Given the description of an element on the screen output the (x, y) to click on. 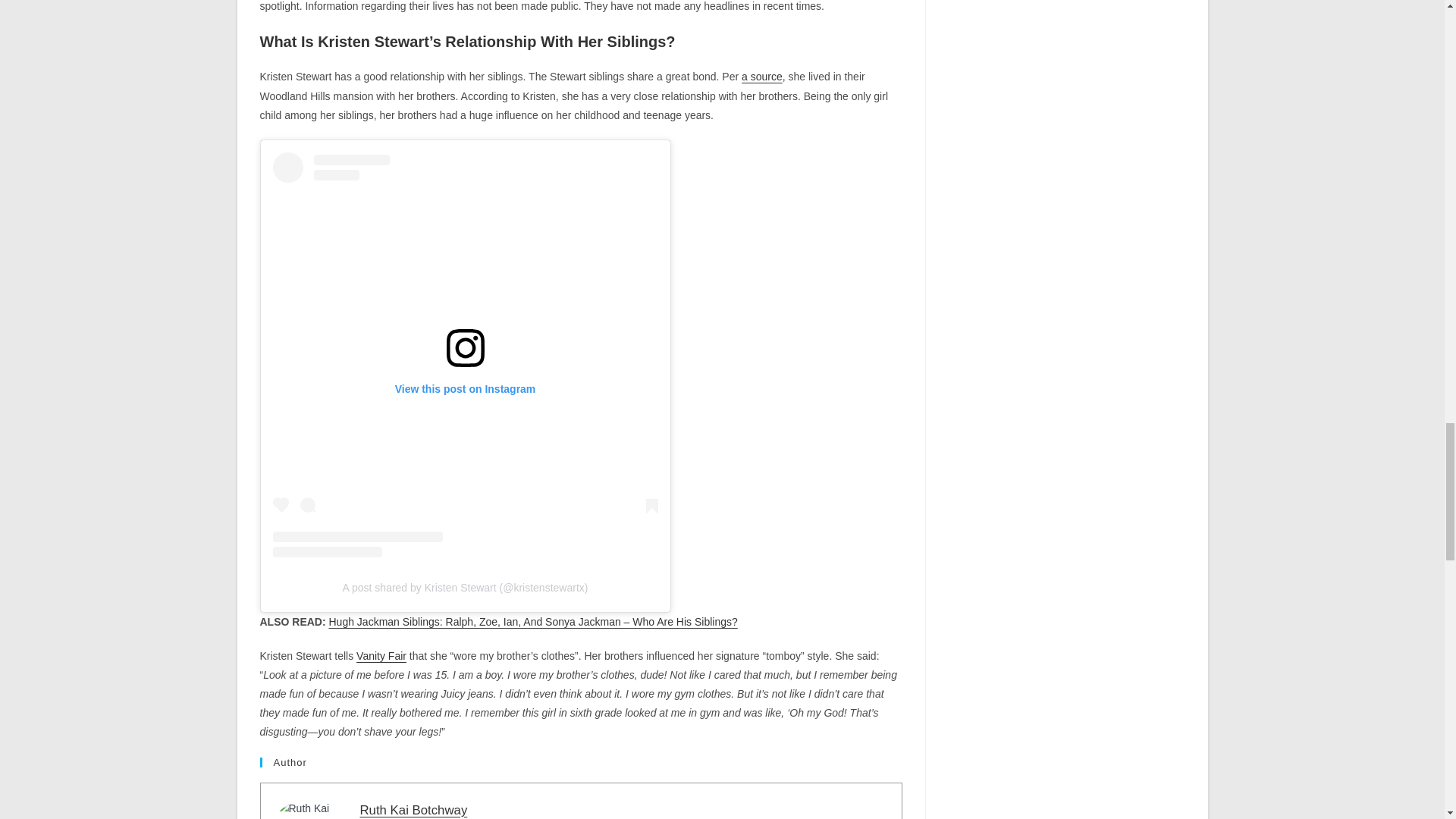
Ruth Kai Botchway (413, 810)
a source (762, 76)
